Given the description of an element on the screen output the (x, y) to click on. 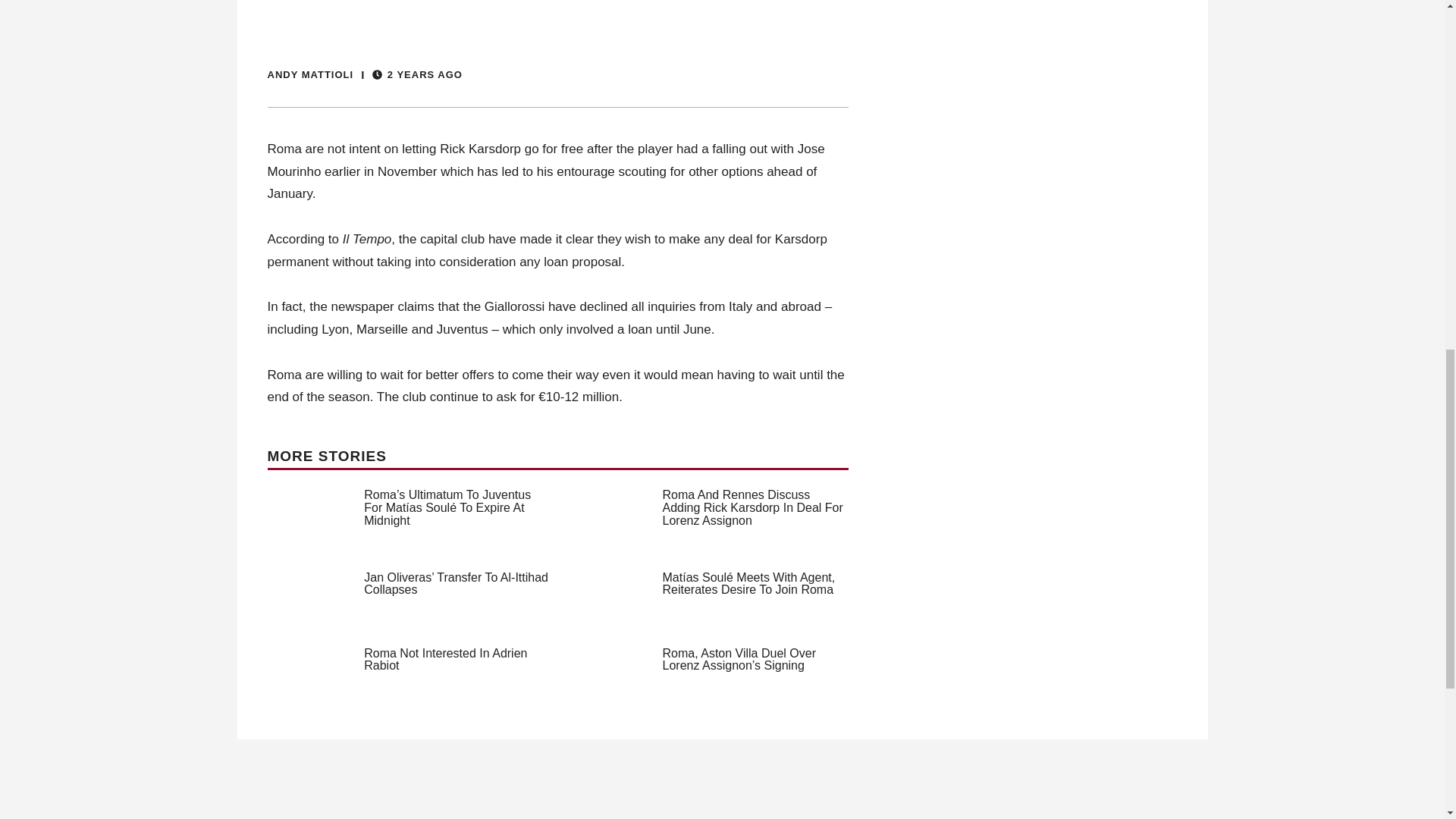
Roma Not Interested In Adrien Rabiot (445, 659)
